Given the description of an element on the screen output the (x, y) to click on. 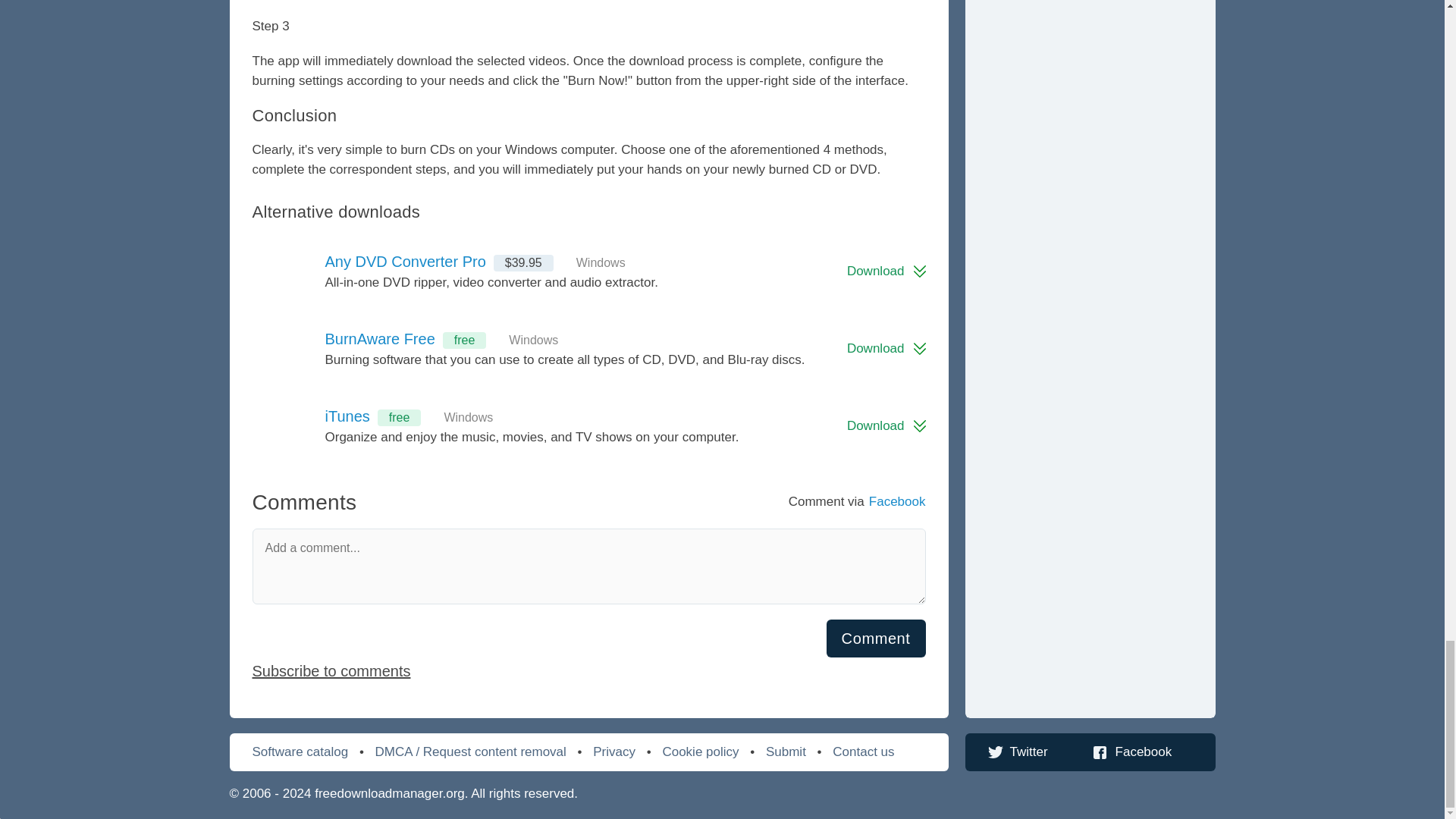
Submit (785, 752)
Any DVD Converter Pro (404, 261)
Download (886, 426)
iTunes (346, 416)
Privacy (613, 752)
Comment (876, 638)
Software catalog (299, 752)
BurnAware Free (378, 339)
Comment (876, 638)
BurnAware Free (287, 348)
Any DVD Converter Pro (404, 261)
BurnAware Free (378, 339)
Any DVD Converter Pro (287, 271)
Cookie policy (700, 752)
Download (886, 271)
